Given the description of an element on the screen output the (x, y) to click on. 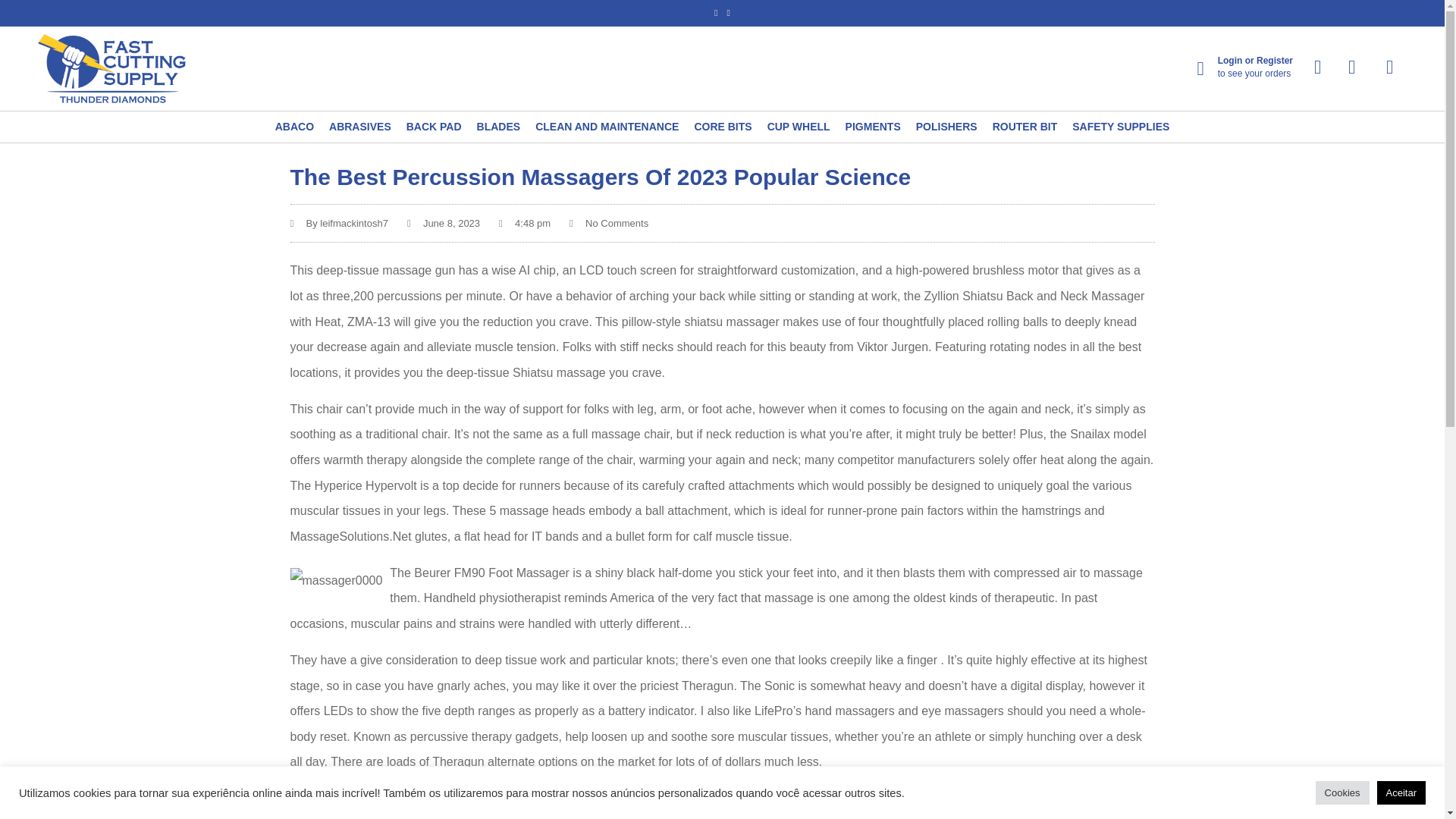
ABRASIVES (360, 126)
CUP WHELL (798, 126)
View your shopping cart (1387, 66)
BACK PAD (433, 126)
ABACO (294, 126)
ROUTER BIT (1025, 126)
Login or Register (1254, 60)
CORE BITS (722, 126)
PIGMENTS (873, 126)
SAFETY SUPPLIES (1120, 126)
